Given the description of an element on the screen output the (x, y) to click on. 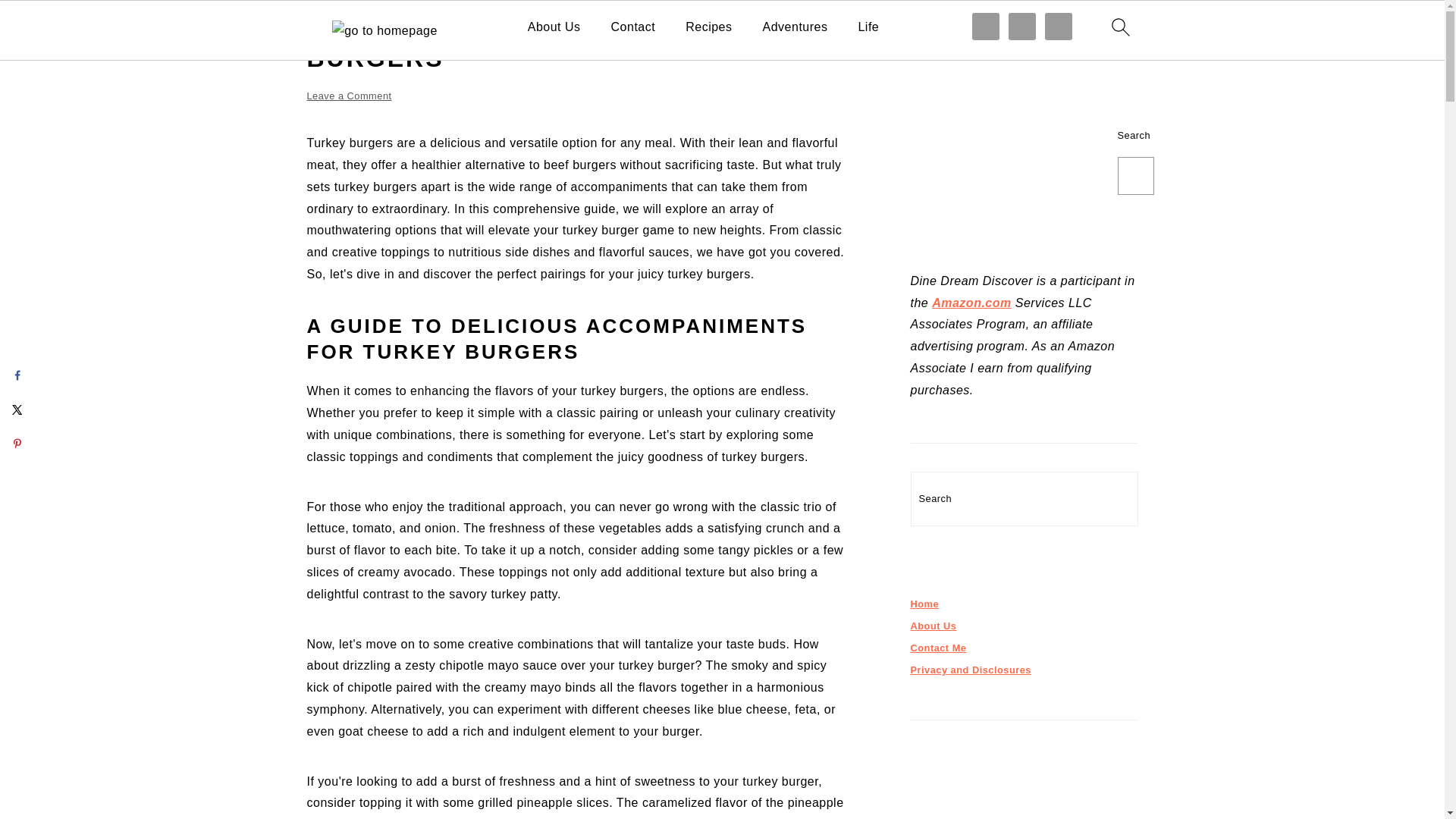
Share on Facebook (16, 374)
Share on X (16, 409)
Adventures (795, 26)
Save to Pinterest (16, 442)
Life (868, 26)
Recipes (708, 26)
Contact (633, 26)
About Us (553, 26)
search icon (1119, 26)
